Given the description of an element on the screen output the (x, y) to click on. 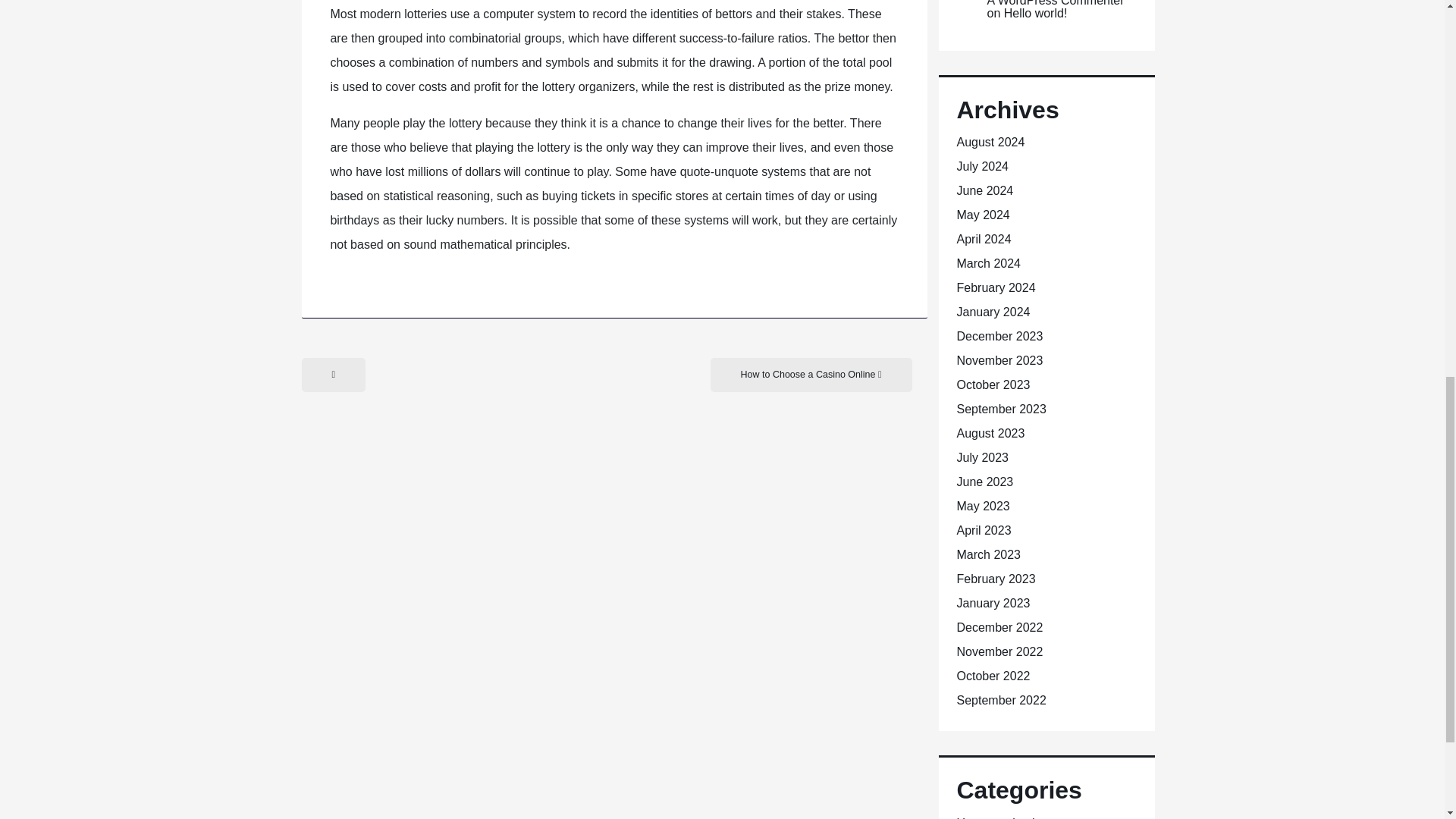
January 2024 (993, 311)
A WordPress Commenter (1055, 3)
December 2023 (999, 336)
September 2023 (1001, 408)
July 2023 (982, 457)
August 2024 (990, 141)
March 2024 (989, 263)
February 2023 (995, 578)
July 2024 (982, 165)
June 2024 (984, 190)
